Given the description of an element on the screen output the (x, y) to click on. 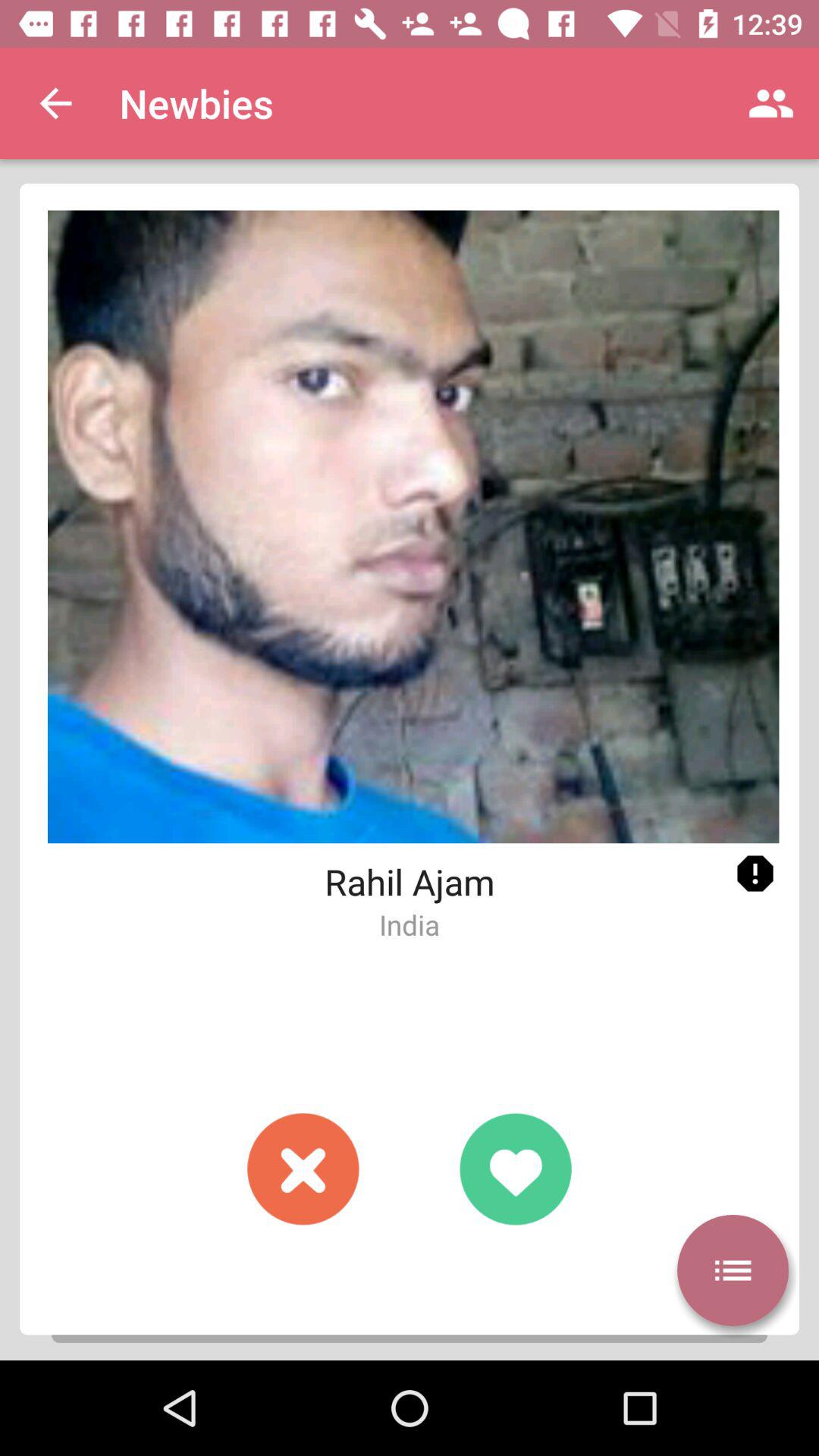
report terms violation (755, 873)
